Given the description of an element on the screen output the (x, y) to click on. 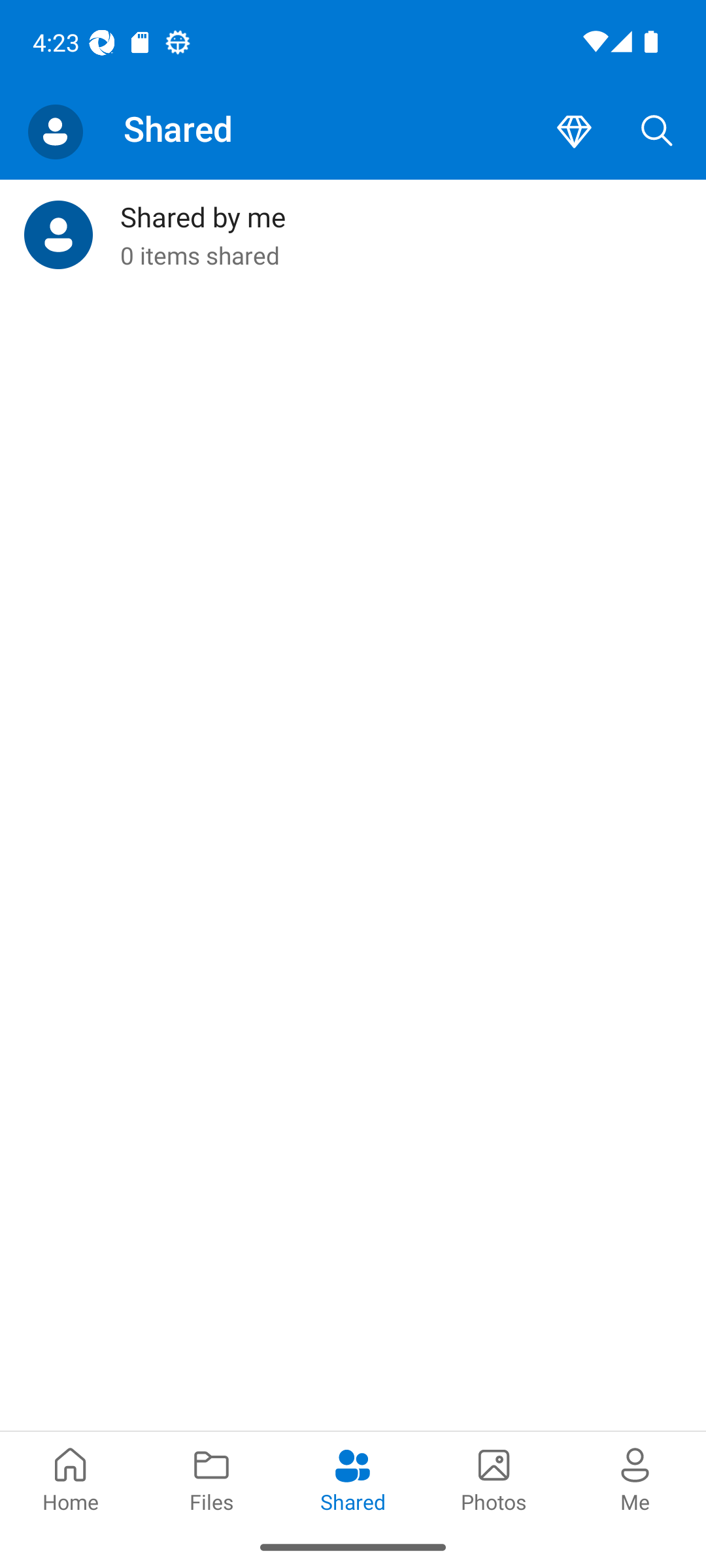
Account switcher (55, 131)
Premium button (574, 131)
Search button (656, 131)
0 Shared by me 0 items shared (353, 235)
Home pivot Home (70, 1478)
Files pivot Files (211, 1478)
Photos pivot Photos (493, 1478)
Me pivot Me (635, 1478)
